Given the description of an element on the screen output the (x, y) to click on. 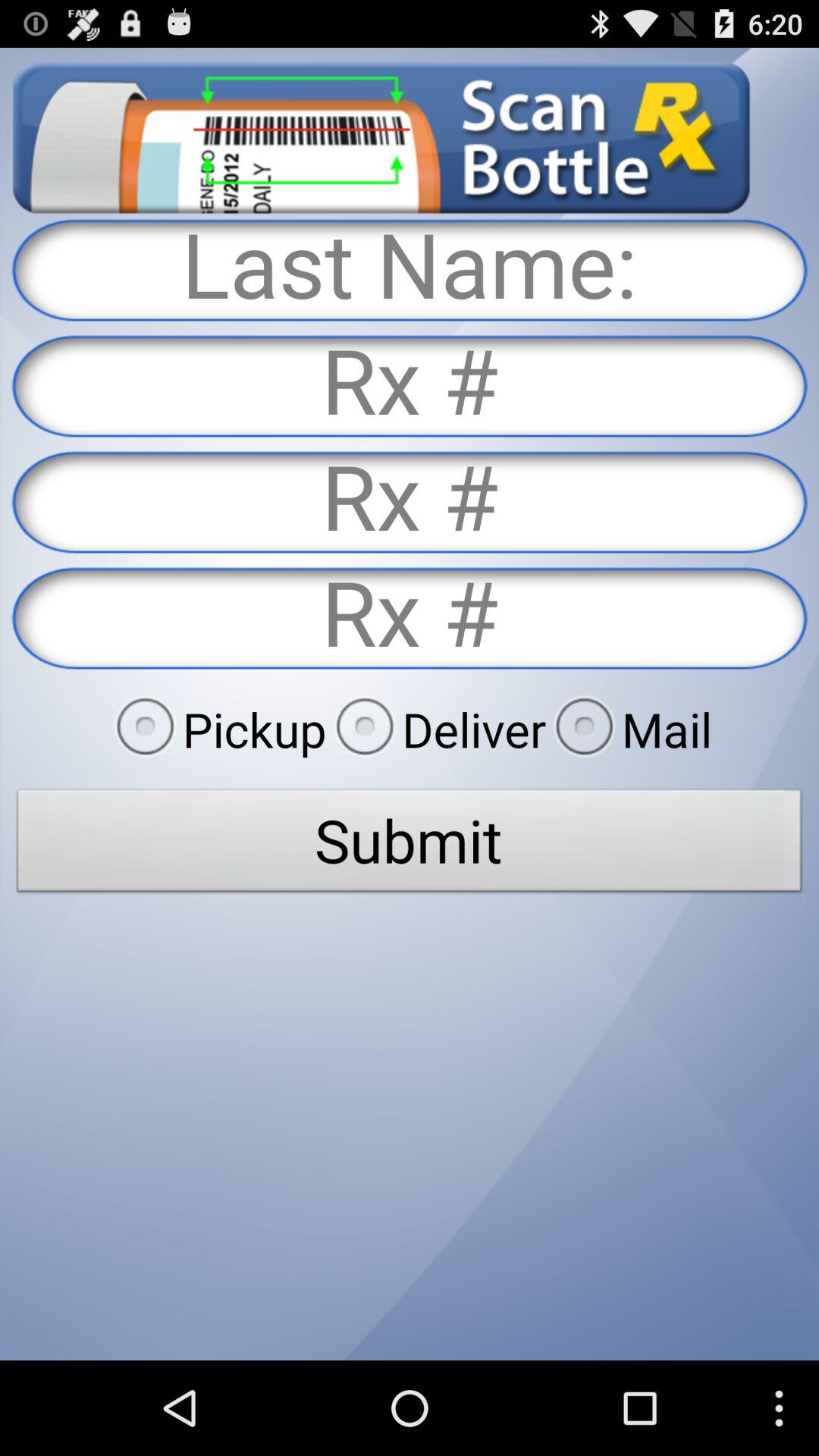
tap mail item (629, 728)
